Given the description of an element on the screen output the (x, y) to click on. 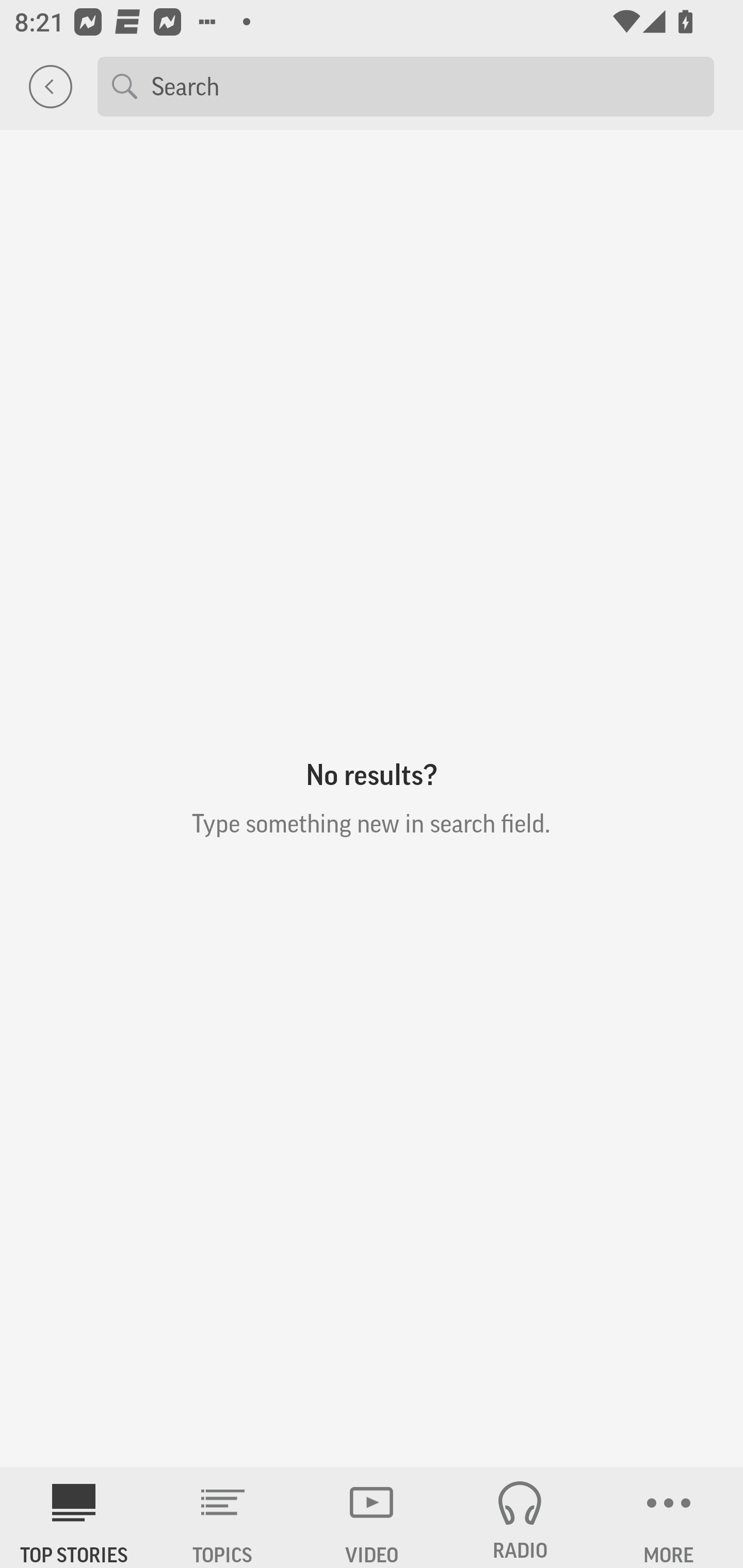
Search (425, 86)
AP News TOP STORIES (74, 1517)
TOPICS (222, 1517)
VIDEO (371, 1517)
RADIO (519, 1517)
MORE (668, 1517)
